Given the description of an element on the screen output the (x, y) to click on. 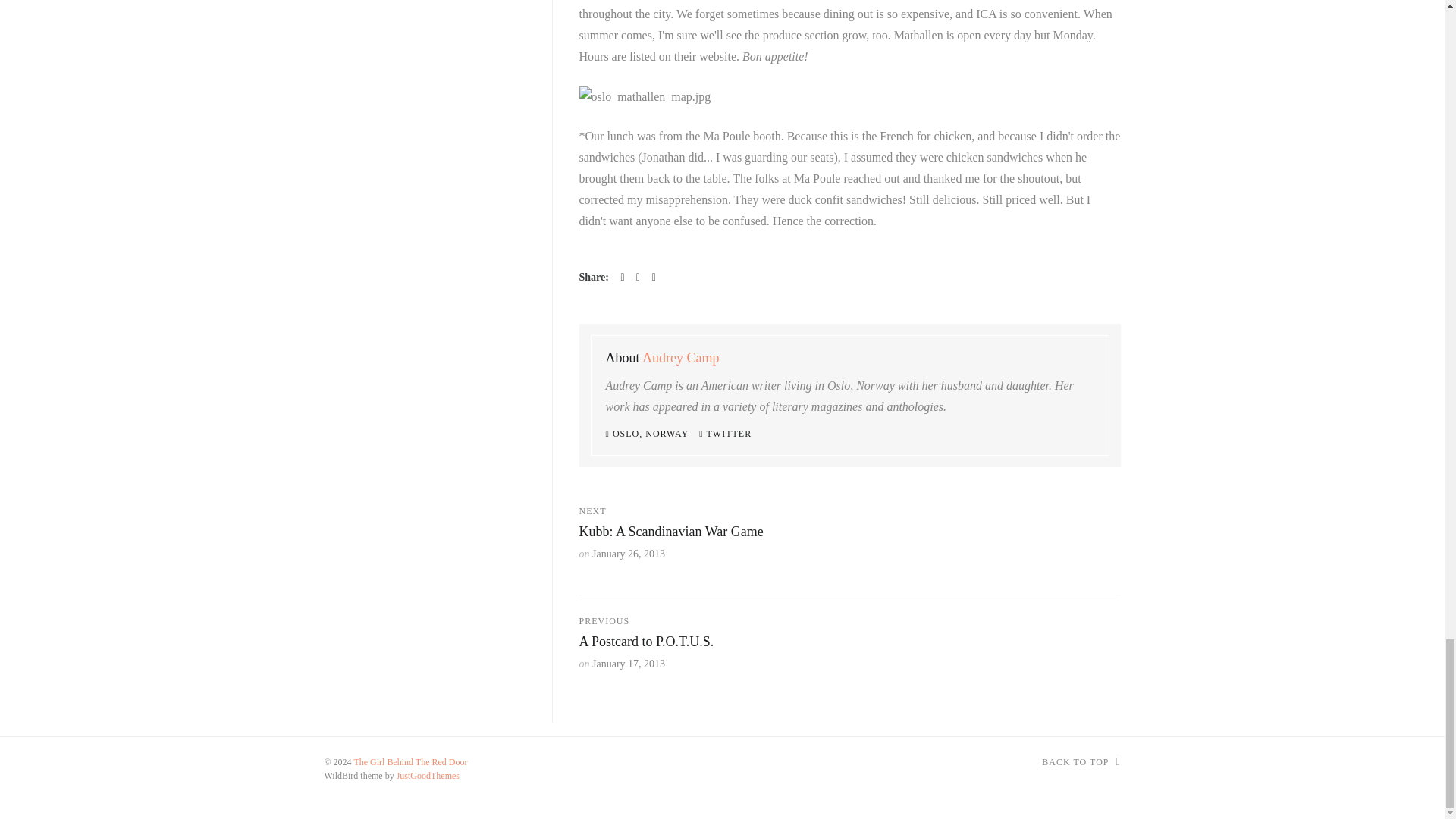
TWITTER (724, 433)
A Postcard to P.O.T.U.S. (646, 641)
Audrey Camp (680, 357)
Kubb: A Scandinavian War Game (670, 531)
